Given the description of an element on the screen output the (x, y) to click on. 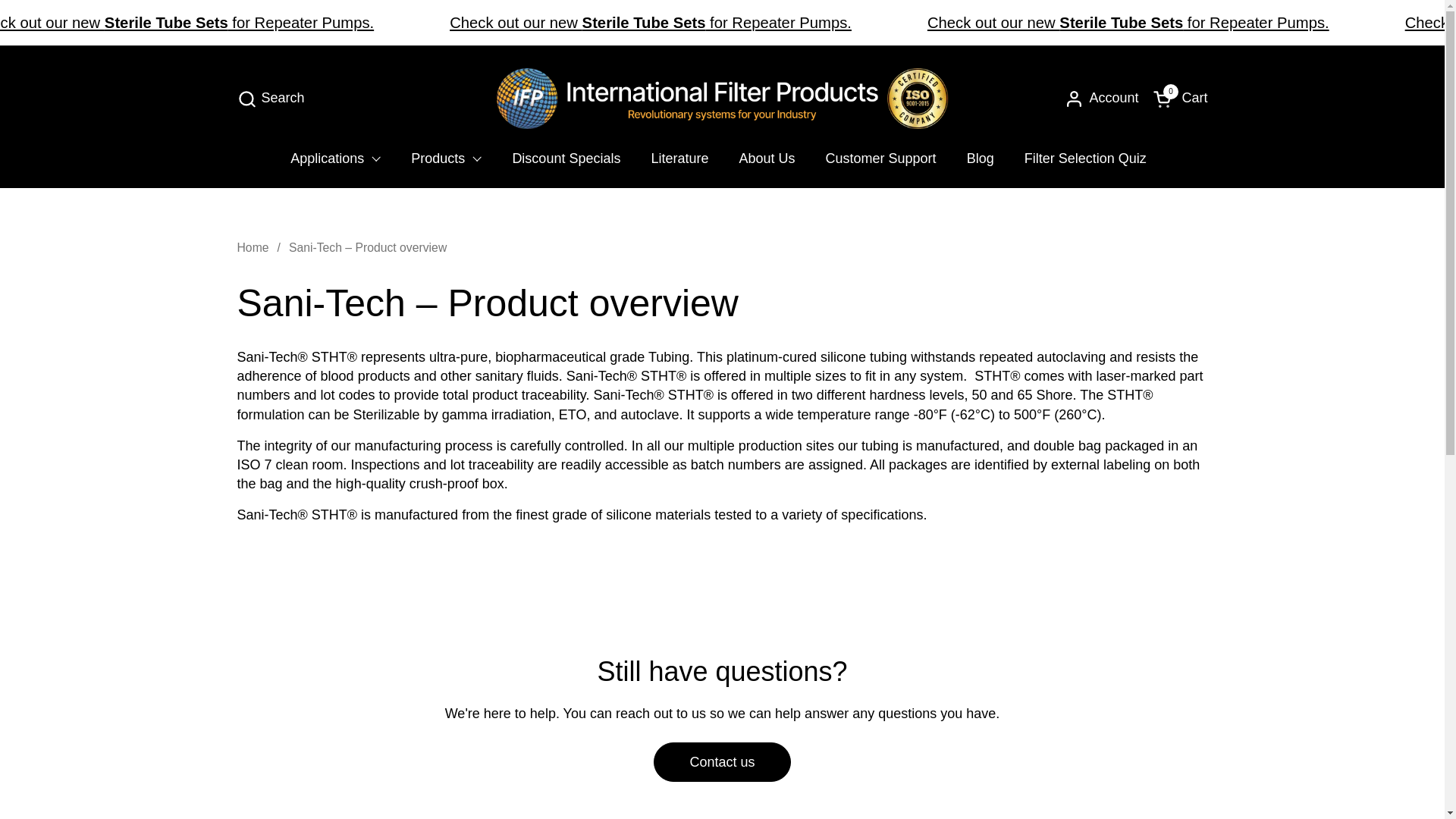
Account (1101, 98)
Open search (269, 98)
Open cart (1180, 98)
Check out our new Sterile Tube Sets for Repeater Pumps. (650, 22)
Check out our new Sterile Tube Sets for Repeater Pumps. (187, 22)
Check out our new Sterile Tube Sets for Repeater Pumps. (1128, 22)
Applications (1180, 98)
Search (335, 158)
Skip to content (269, 98)
